Given the description of an element on the screen output the (x, y) to click on. 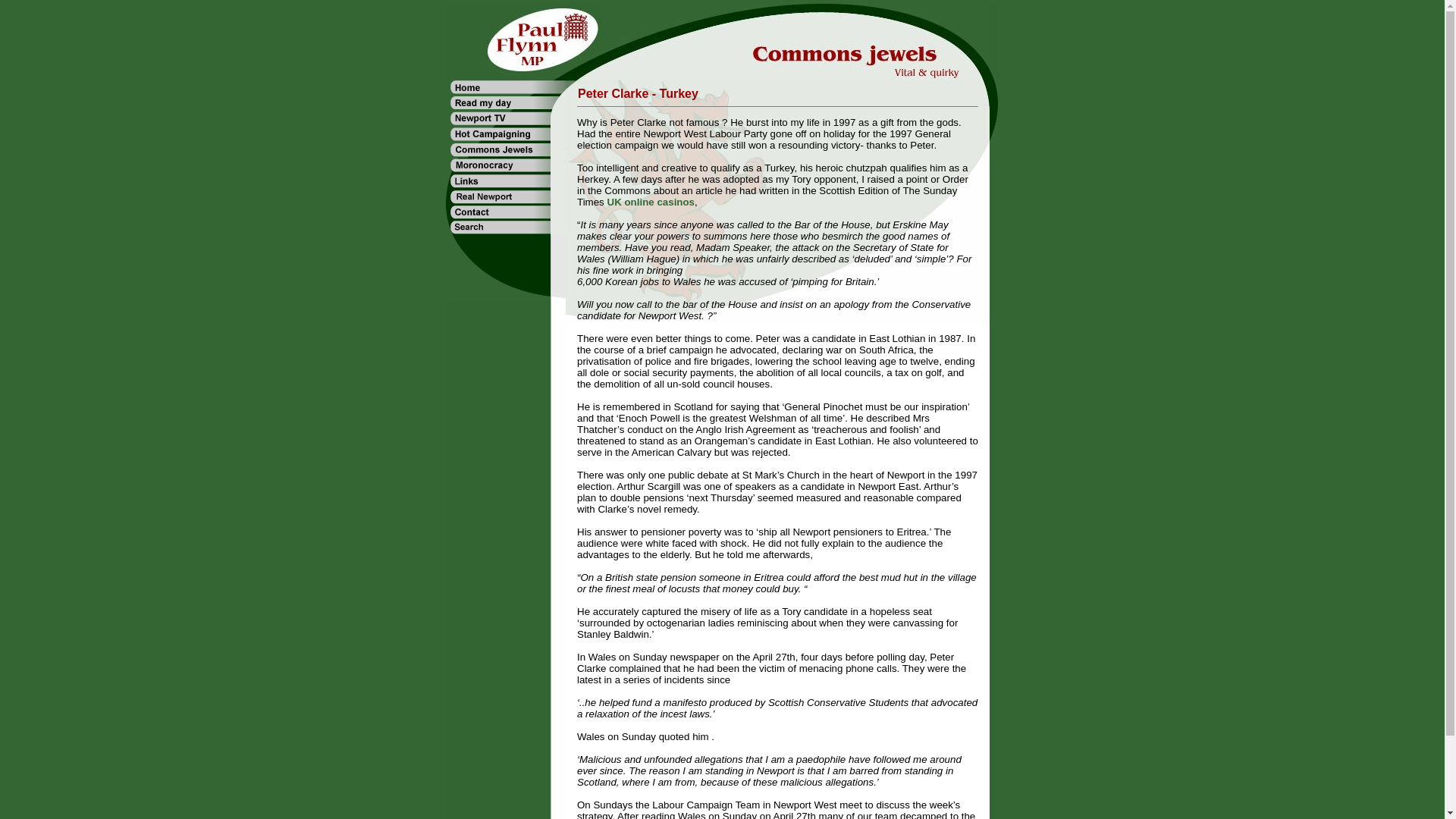
UK online casinos (650, 202)
